Given the description of an element on the screen output the (x, y) to click on. 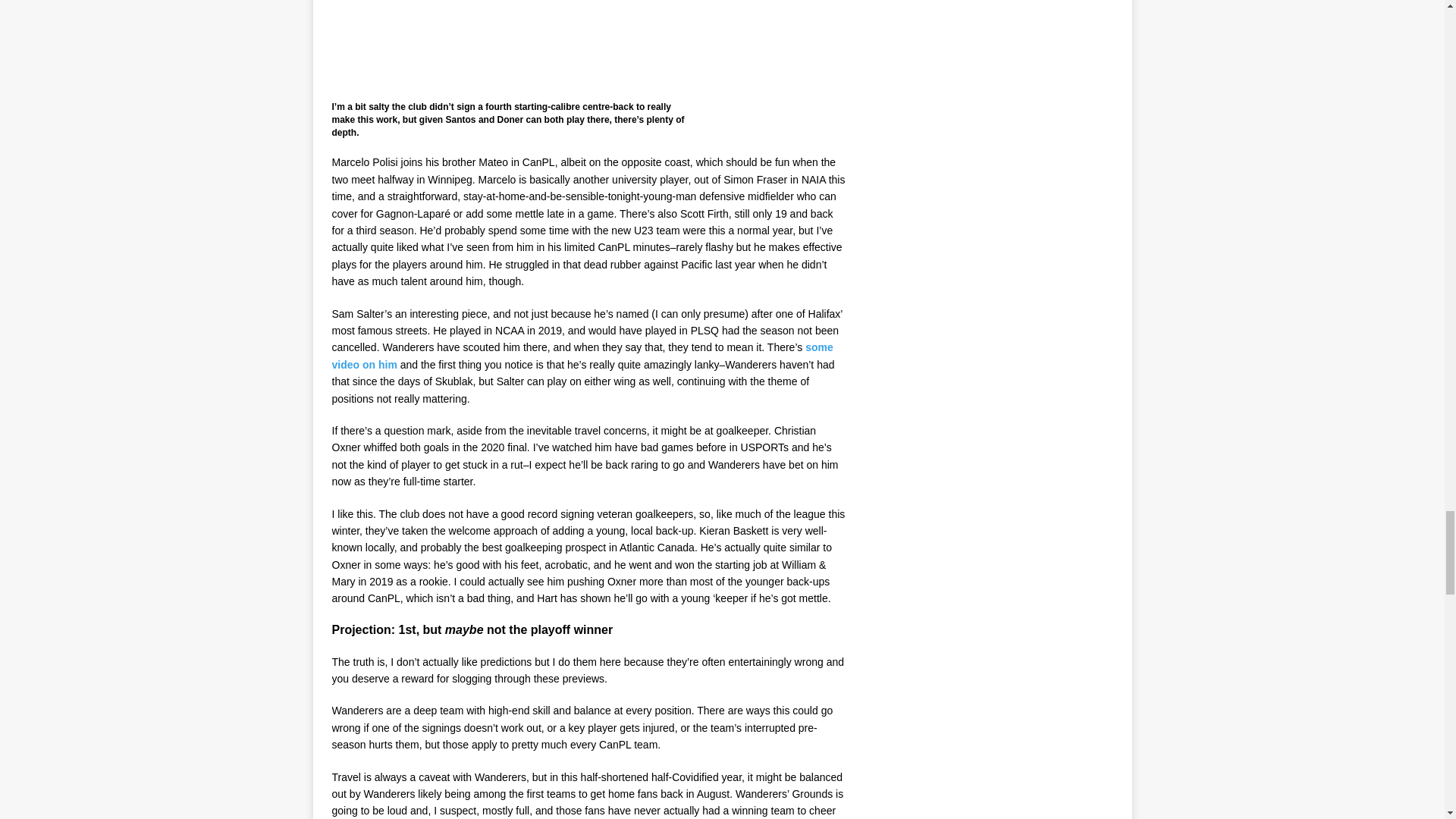
some video on him (581, 355)
